Given the description of an element on the screen output the (x, y) to click on. 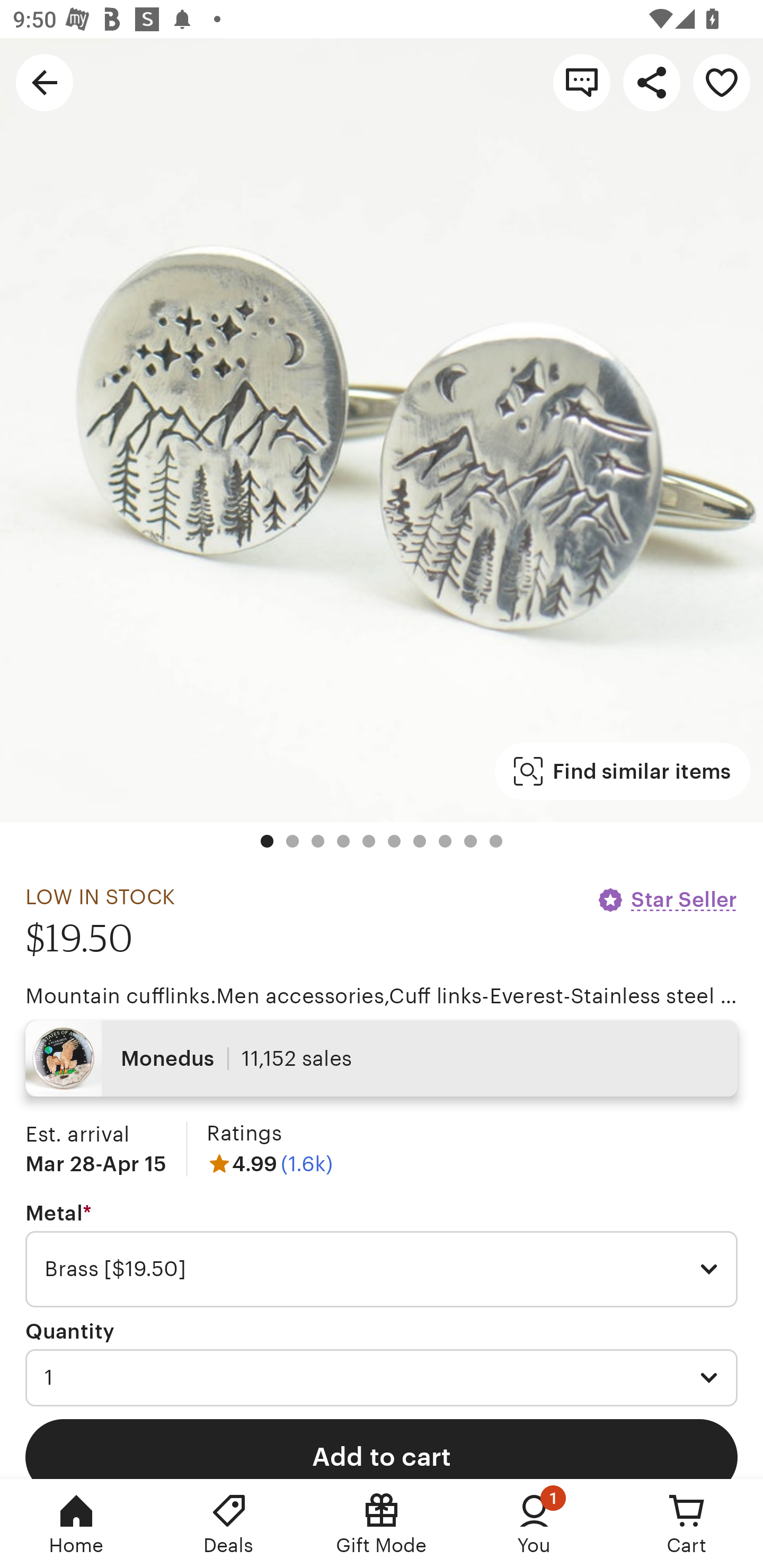
Navigate up (44, 81)
Contact shop (581, 81)
Share (651, 81)
Find similar items (622, 771)
Star Seller (666, 899)
Monedus 11,152 sales (381, 1058)
Ratings (243, 1133)
4.99 (1.6k) (269, 1163)
Metal * Required Brass [$19.50] (381, 1254)
Brass [$19.50] (381, 1268)
Quantity (70, 1331)
1 (381, 1377)
Add to cart (381, 1448)
Deals (228, 1523)
Gift Mode (381, 1523)
You, 1 new notification You (533, 1523)
Cart (686, 1523)
